Given the description of an element on the screen output the (x, y) to click on. 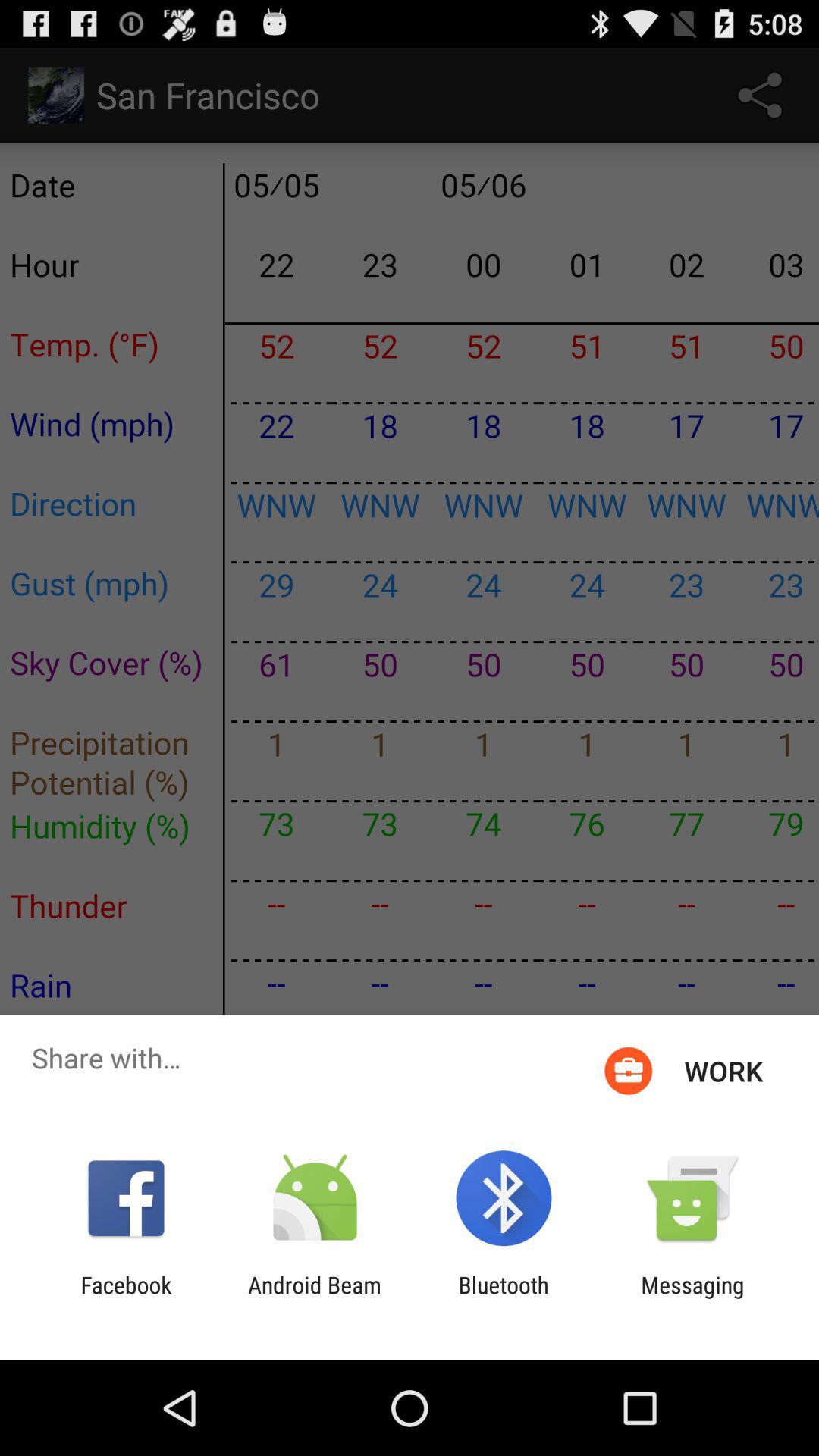
turn off the messaging item (692, 1298)
